Given the description of an element on the screen output the (x, y) to click on. 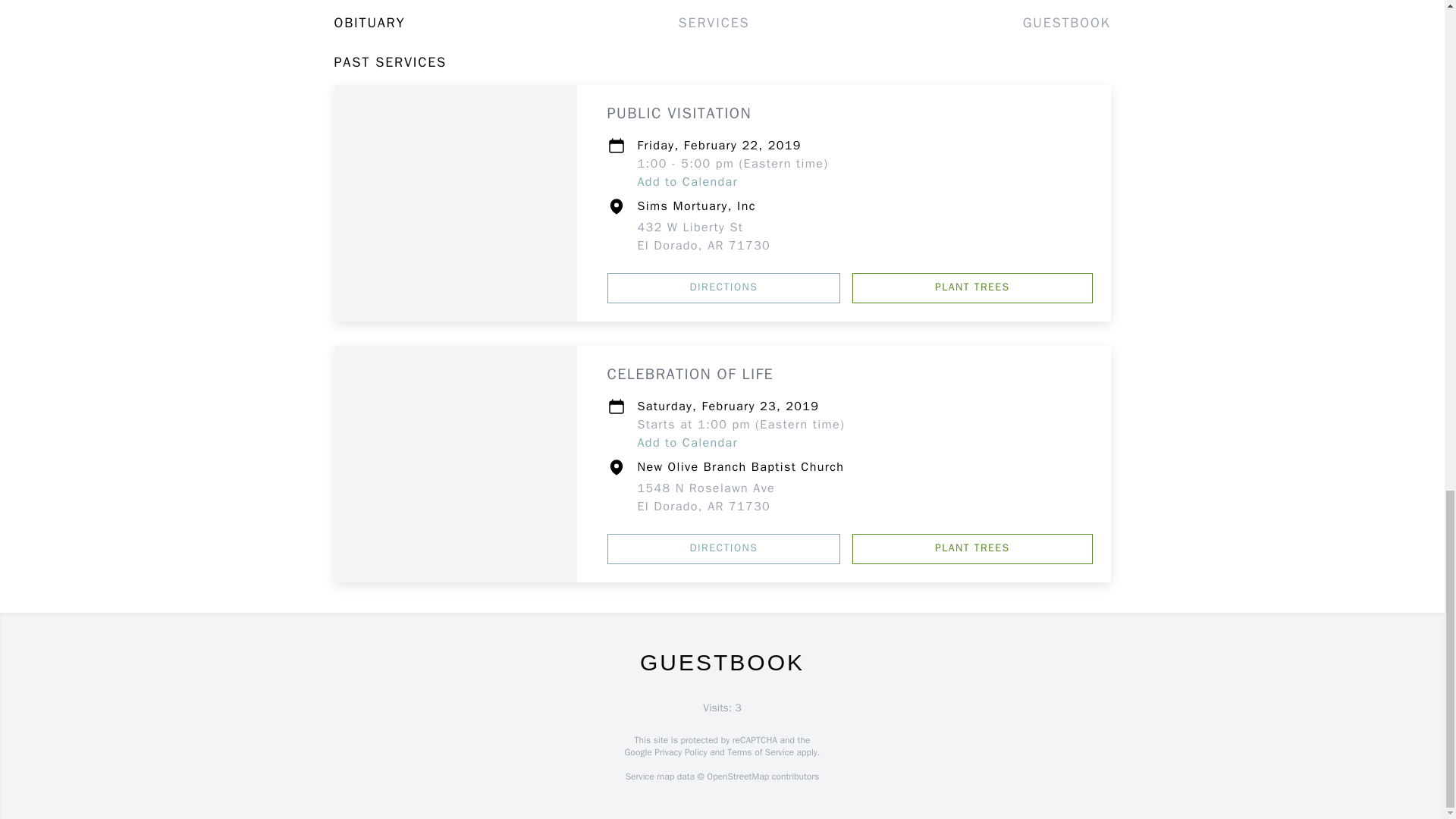
DIRECTIONS (723, 287)
DIRECTIONS (723, 548)
Add to Calendar (687, 442)
PLANT TREES (971, 548)
Add to Calendar (687, 181)
PLANT TREES (705, 497)
